Given the description of an element on the screen output the (x, y) to click on. 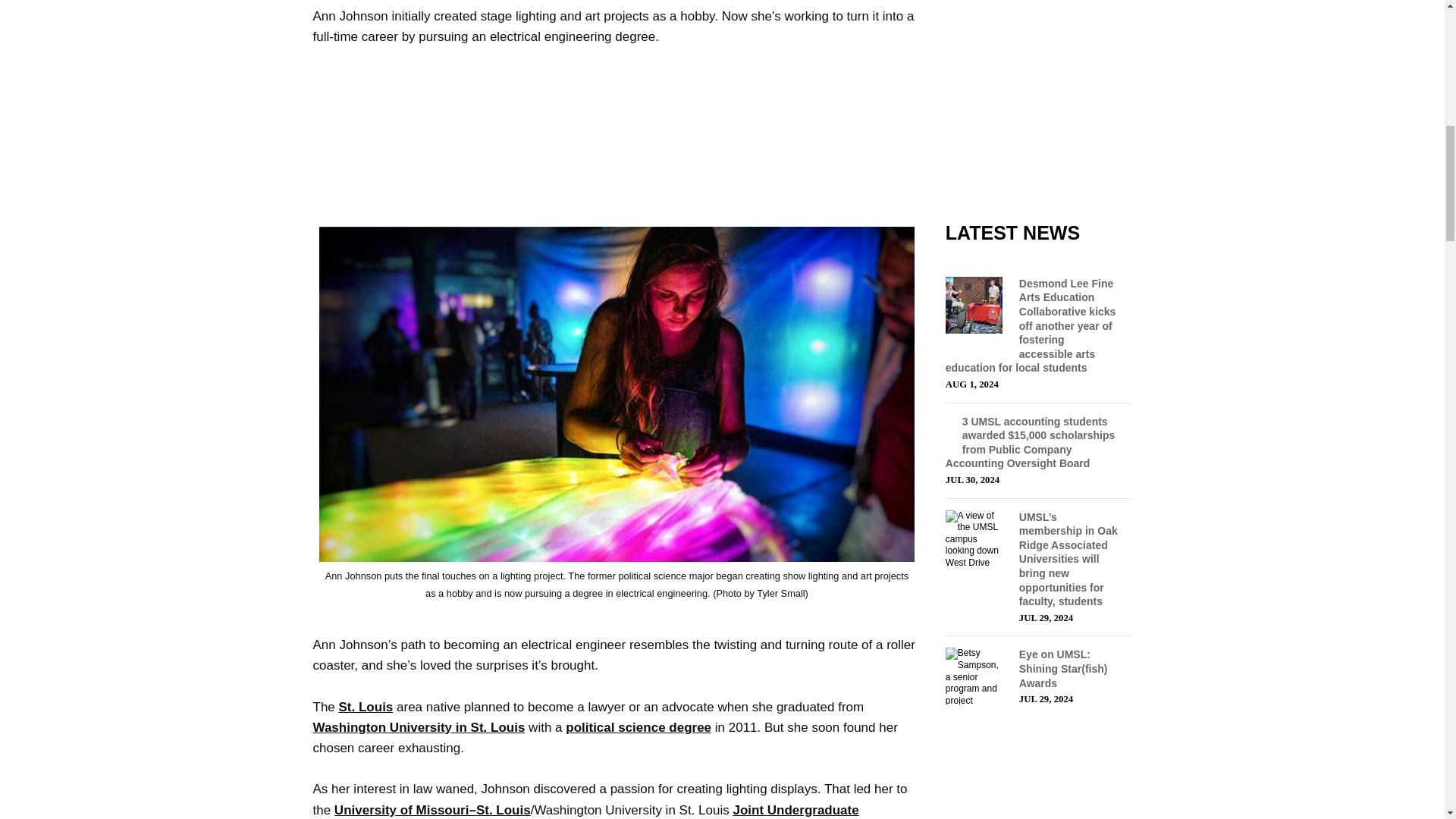
Washington University in St. Louis (418, 727)
political science degree (638, 727)
Joint Undergraduate Engineering Program (586, 811)
St. Louis (366, 707)
